Given the description of an element on the screen output the (x, y) to click on. 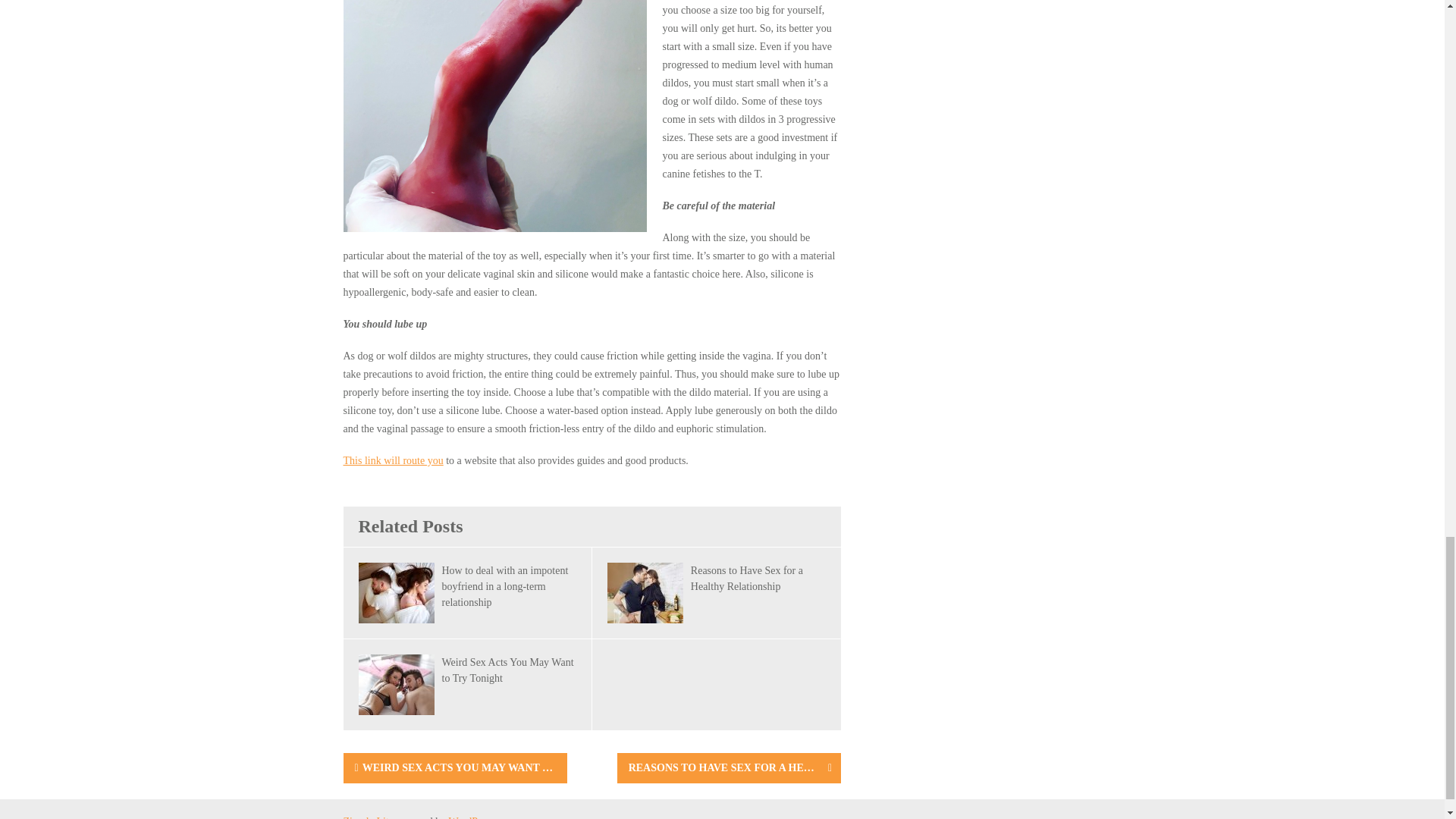
Reasons to Have Sex for a Healthy Relationship (746, 578)
REASONS TO HAVE SEX FOR A HEALTHY RELATIONSHIP (723, 767)
Weird Sex Acts You May Want to Try Tonight (507, 669)
This link will route you (392, 460)
WEIRD SEX ACTS YOU MAY WANT TO TRY TONIGHT (454, 767)
